Given the description of an element on the screen output the (x, y) to click on. 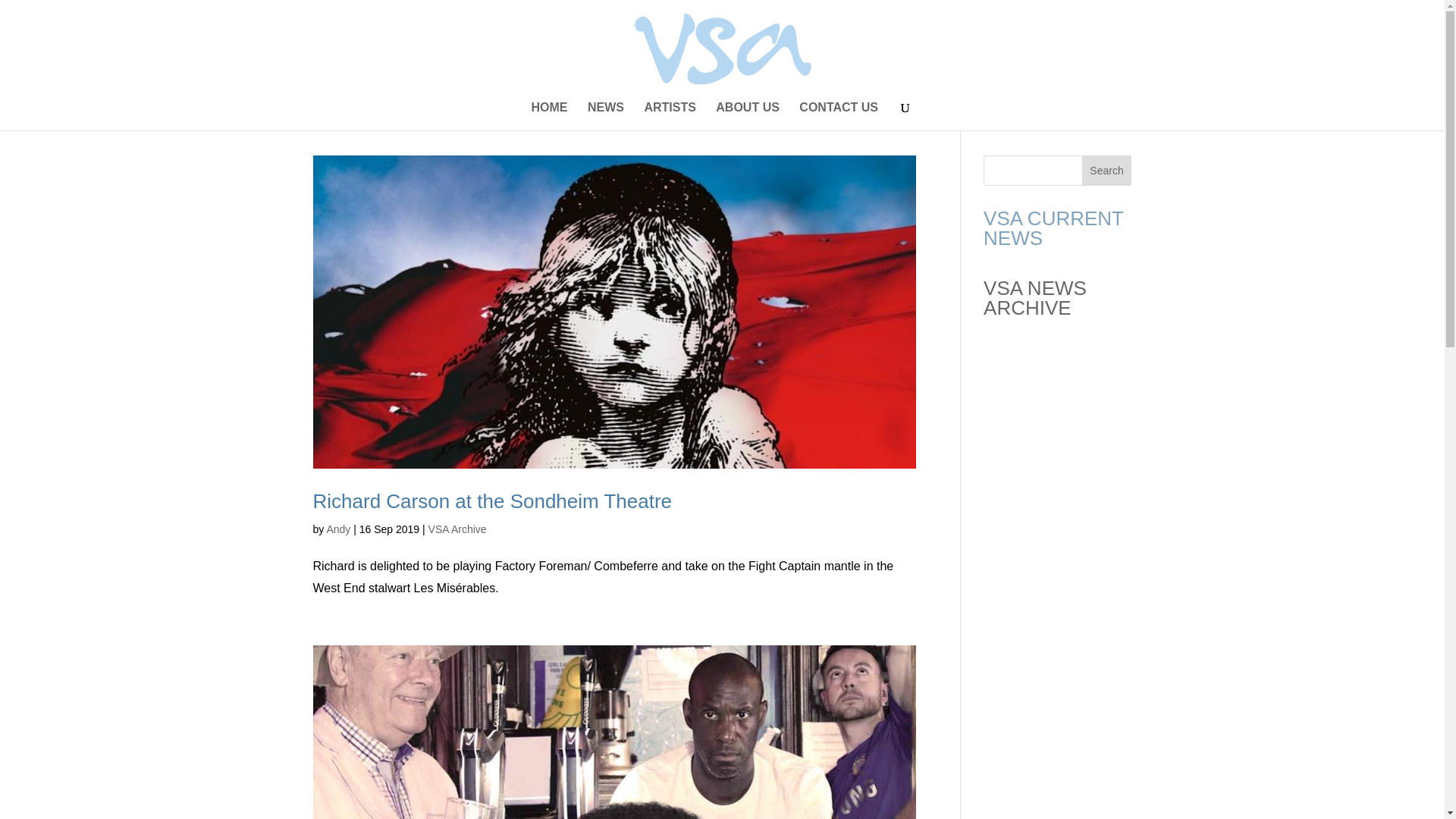
VSA Archive (457, 529)
Search (1106, 170)
Richard Carson at the Sondheim Theatre (492, 500)
HOME (549, 116)
Andy (338, 529)
ARTISTS (669, 116)
VSA NEWS ARCHIVE (1035, 297)
Search (1106, 170)
Posts by Andy (338, 529)
CONTACT US (838, 116)
